Given the description of an element on the screen output the (x, y) to click on. 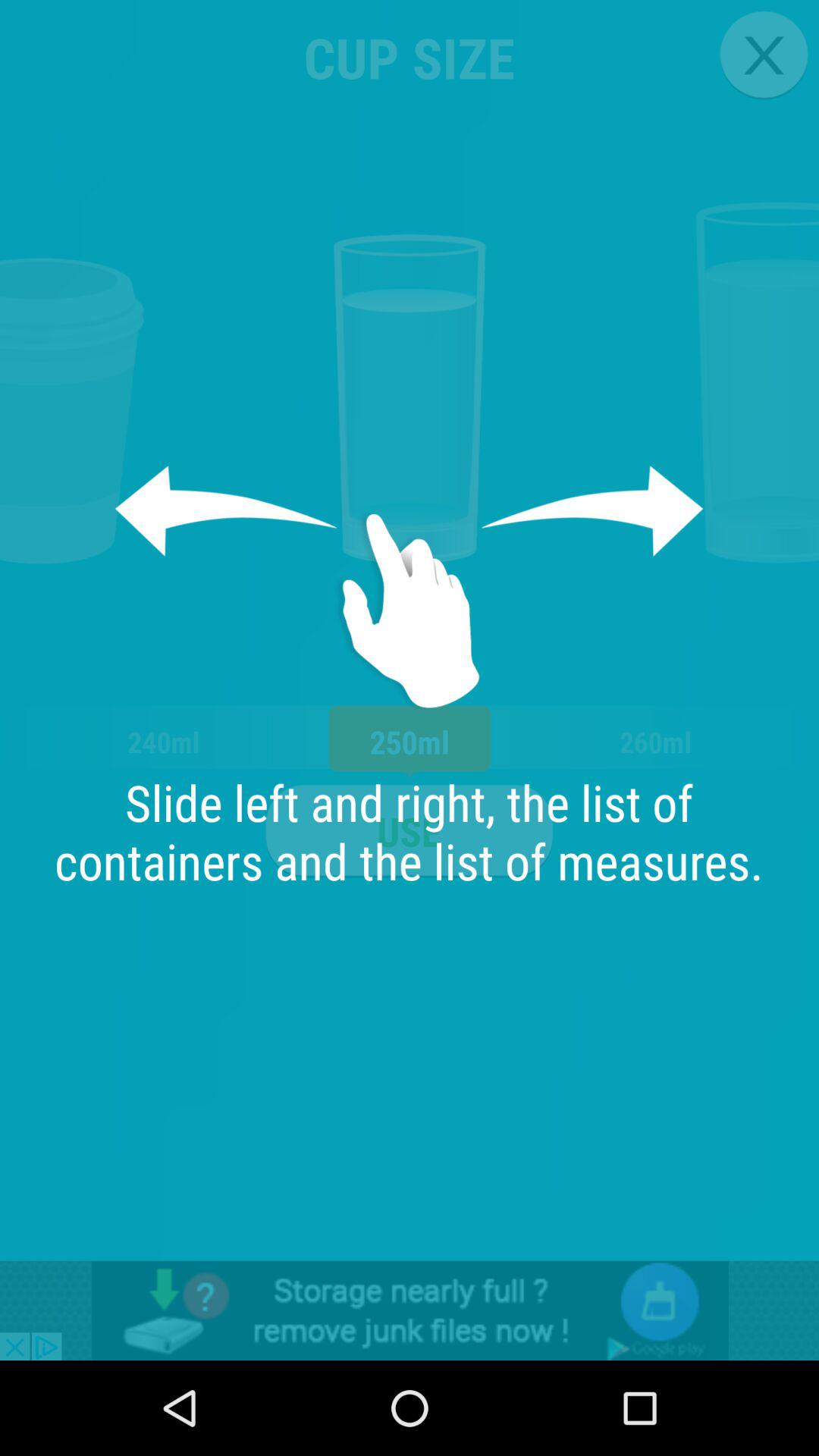
turn off the app next to the 240ml item (408, 830)
